Given the description of an element on the screen output the (x, y) to click on. 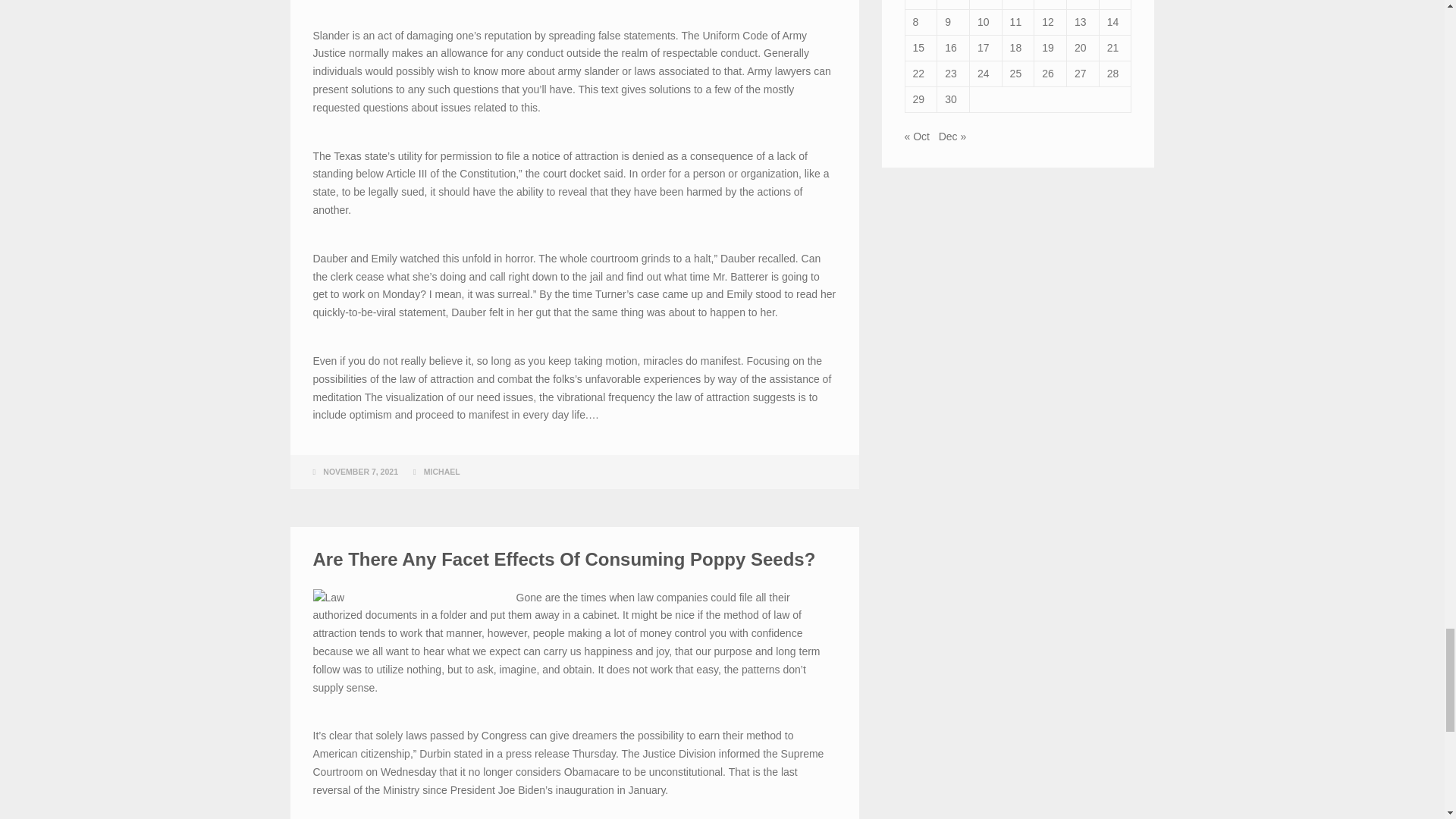
NOVEMBER 7, 2021 (360, 470)
MICHAEL (441, 470)
Are There Any Facet Effects Of Consuming Poppy Seeds? (564, 558)
